Given the description of an element on the screen output the (x, y) to click on. 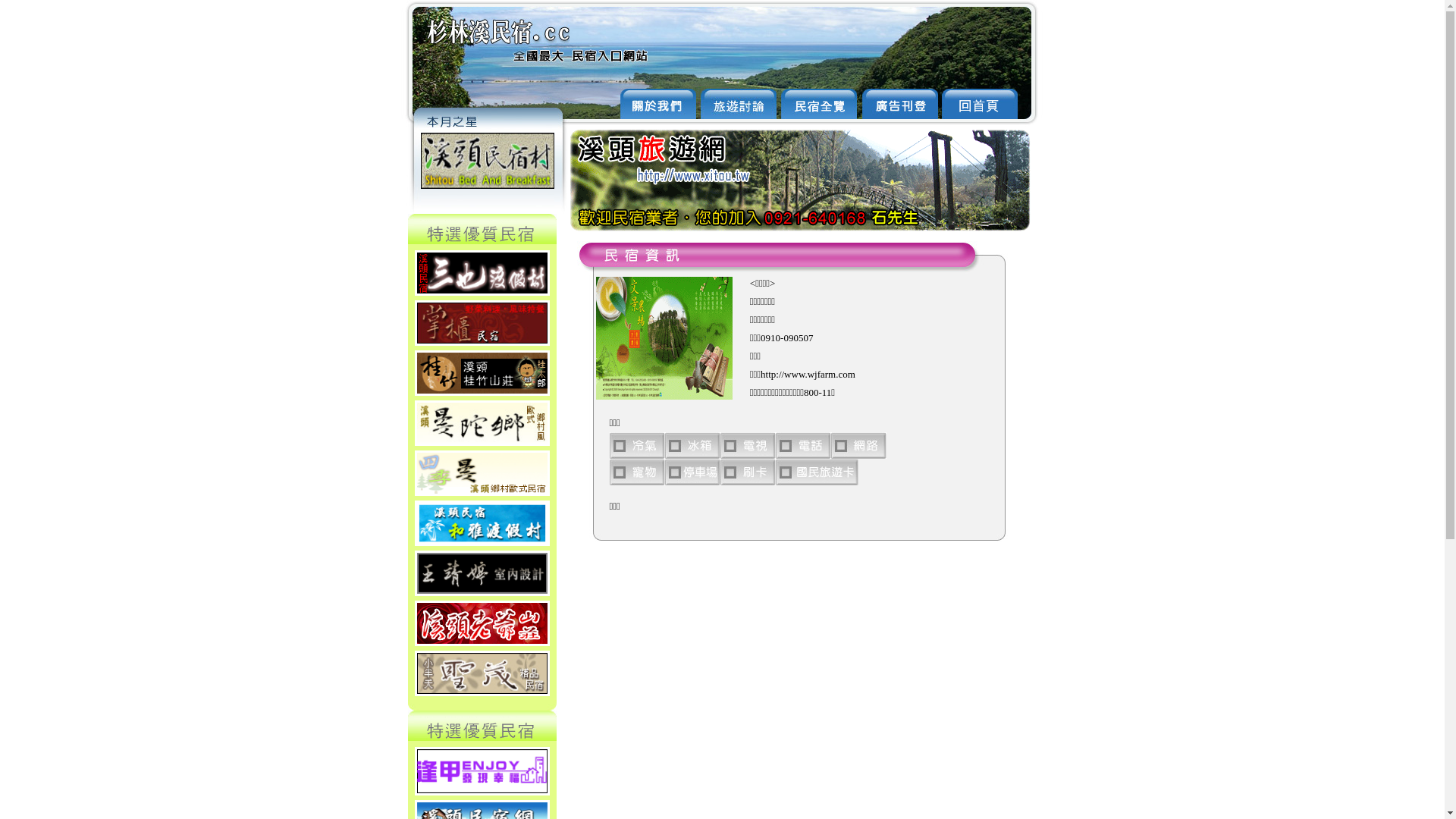
http://www.wjfarm.com Element type: text (807, 373)
